Given the description of an element on the screen output the (x, y) to click on. 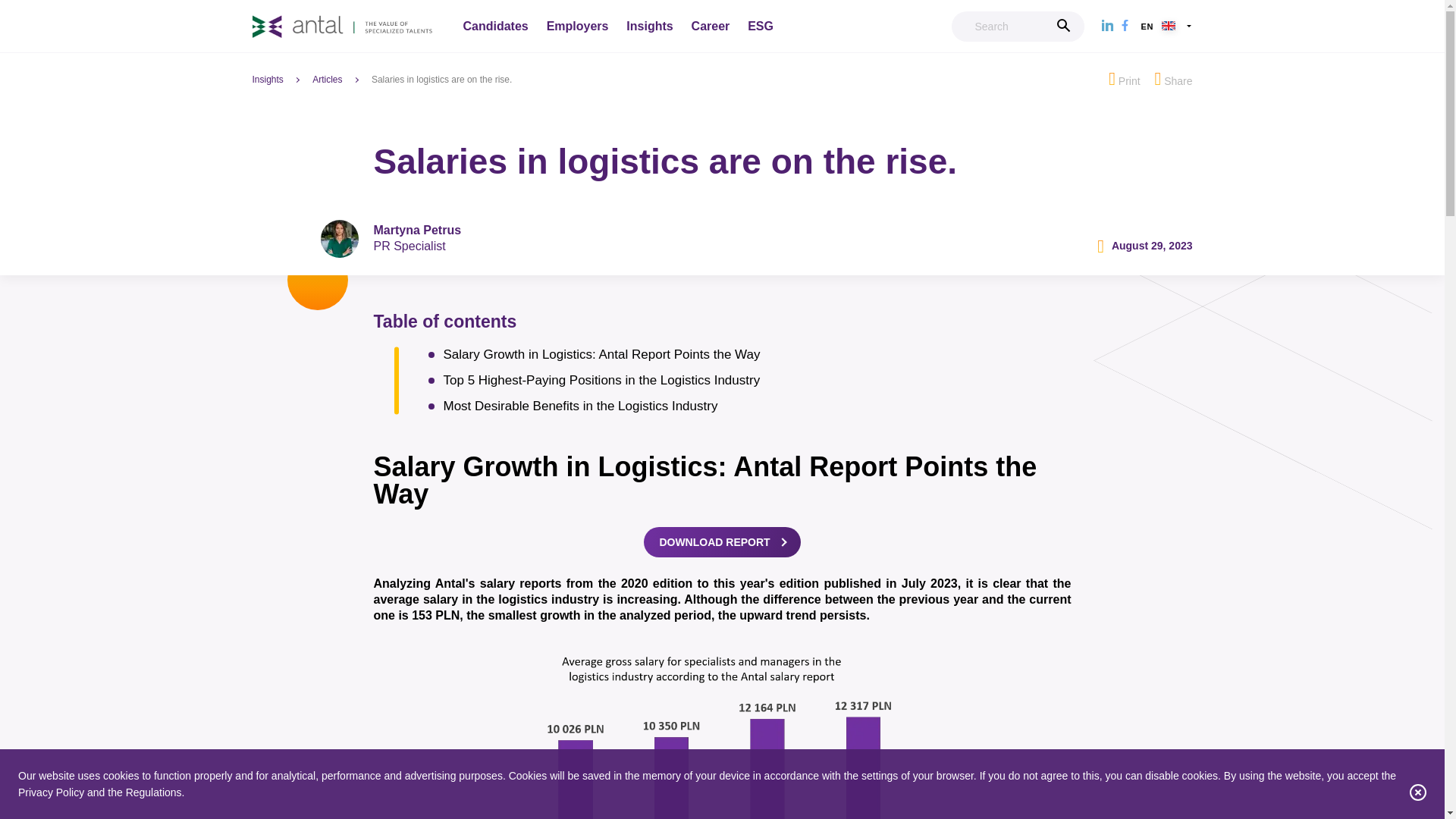
Print (1124, 79)
Candidates (495, 26)
Search (1017, 26)
Insights (279, 79)
Most Desirable Benefits in the Logistics Industry (749, 406)
DOWNLOAD REPORT (721, 542)
linkedin (1107, 25)
DOWNLOAD REPORT (721, 541)
facebook (1125, 25)
Employers (577, 26)
Articles (340, 79)
Salary Growth in Logistics: Antal Report Points the Way (749, 354)
Top 5 Highest-Paying Positions in the Logistics Industry (749, 380)
Share (1173, 79)
